Given the description of an element on the screen output the (x, y) to click on. 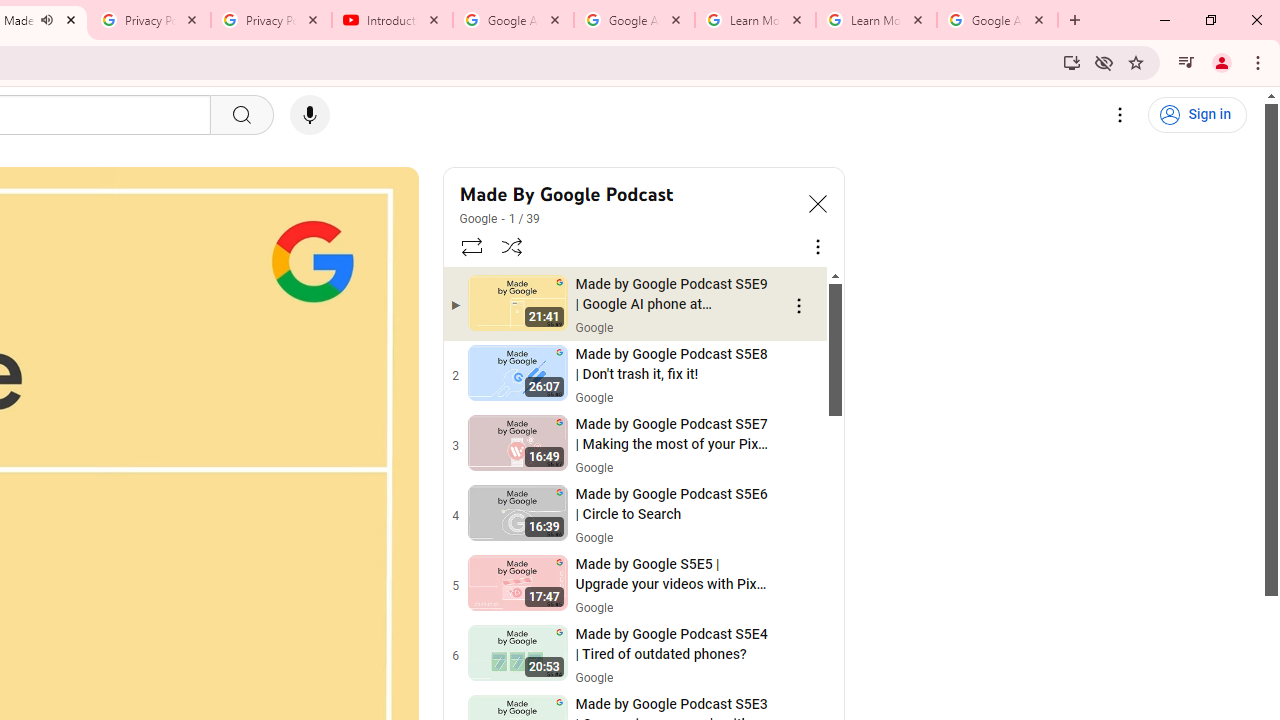
Google Account (997, 20)
Made By Google Podcast (625, 194)
Action menu (798, 655)
Loop playlist (470, 246)
